Given the description of an element on the screen output the (x, y) to click on. 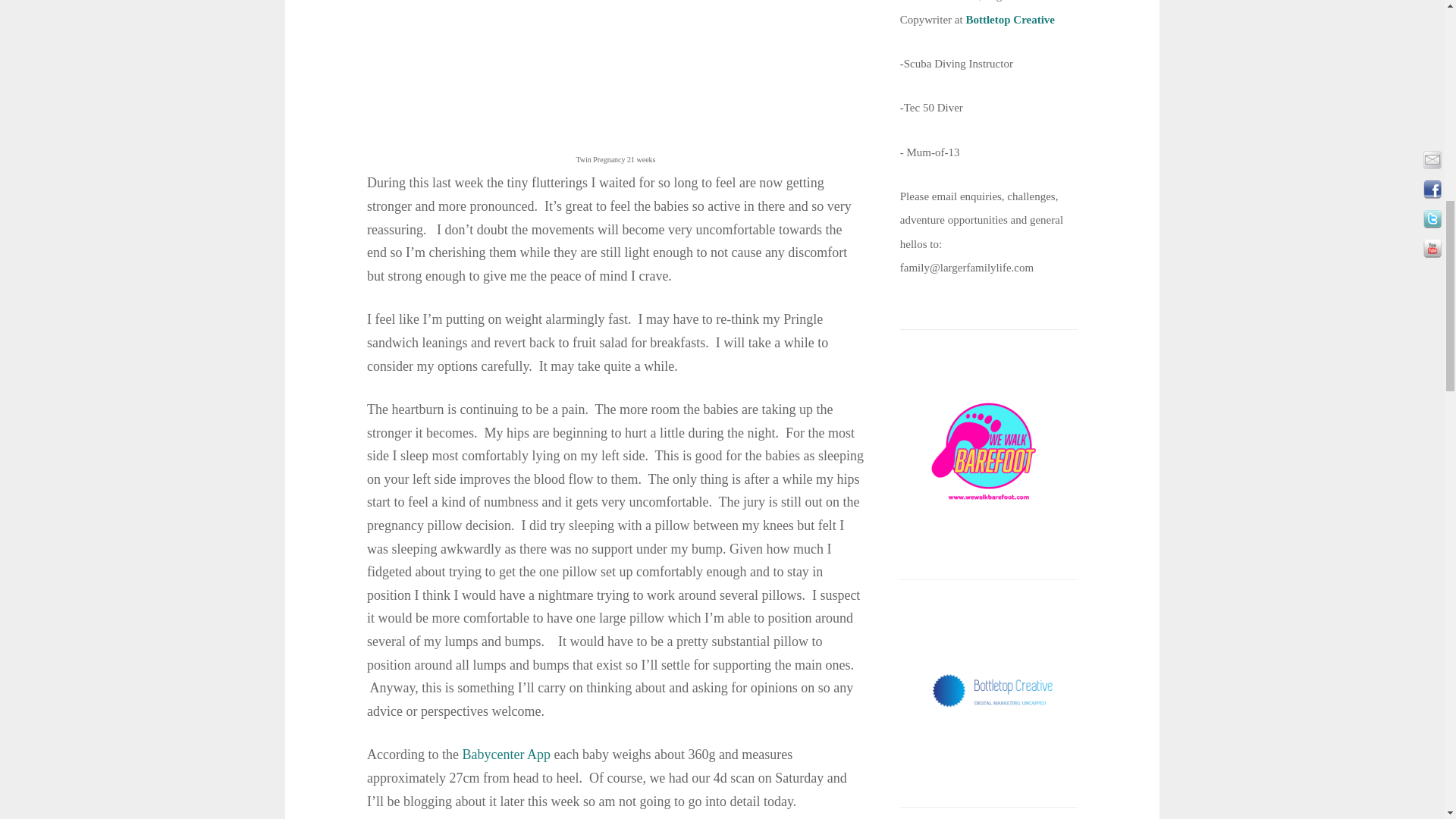
Babycenter App (505, 754)
